Given the description of an element on the screen output the (x, y) to click on. 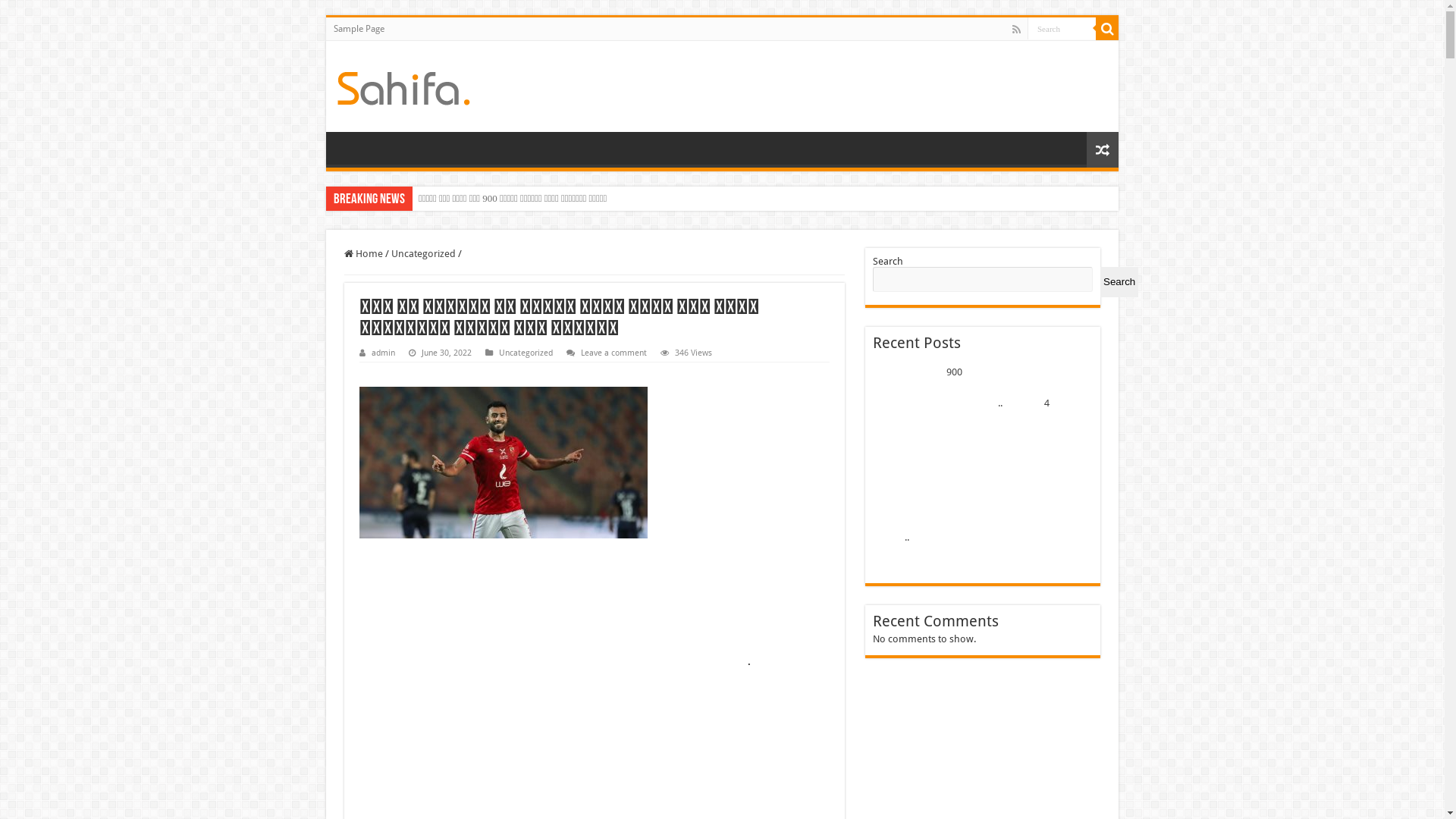
Home Element type: text (363, 253)
Rss Element type: hover (1016, 29)
Leave a comment Element type: text (613, 352)
Search Element type: hover (1061, 28)
Uncategorized Element type: text (423, 253)
Search Element type: text (1119, 281)
admin Element type: text (383, 352)
Uncategorized Element type: text (525, 352)
Search Element type: text (1106, 28)
Sample Page Element type: text (359, 28)
My Blog Element type: hover (403, 85)
